Given the description of an element on the screen output the (x, y) to click on. 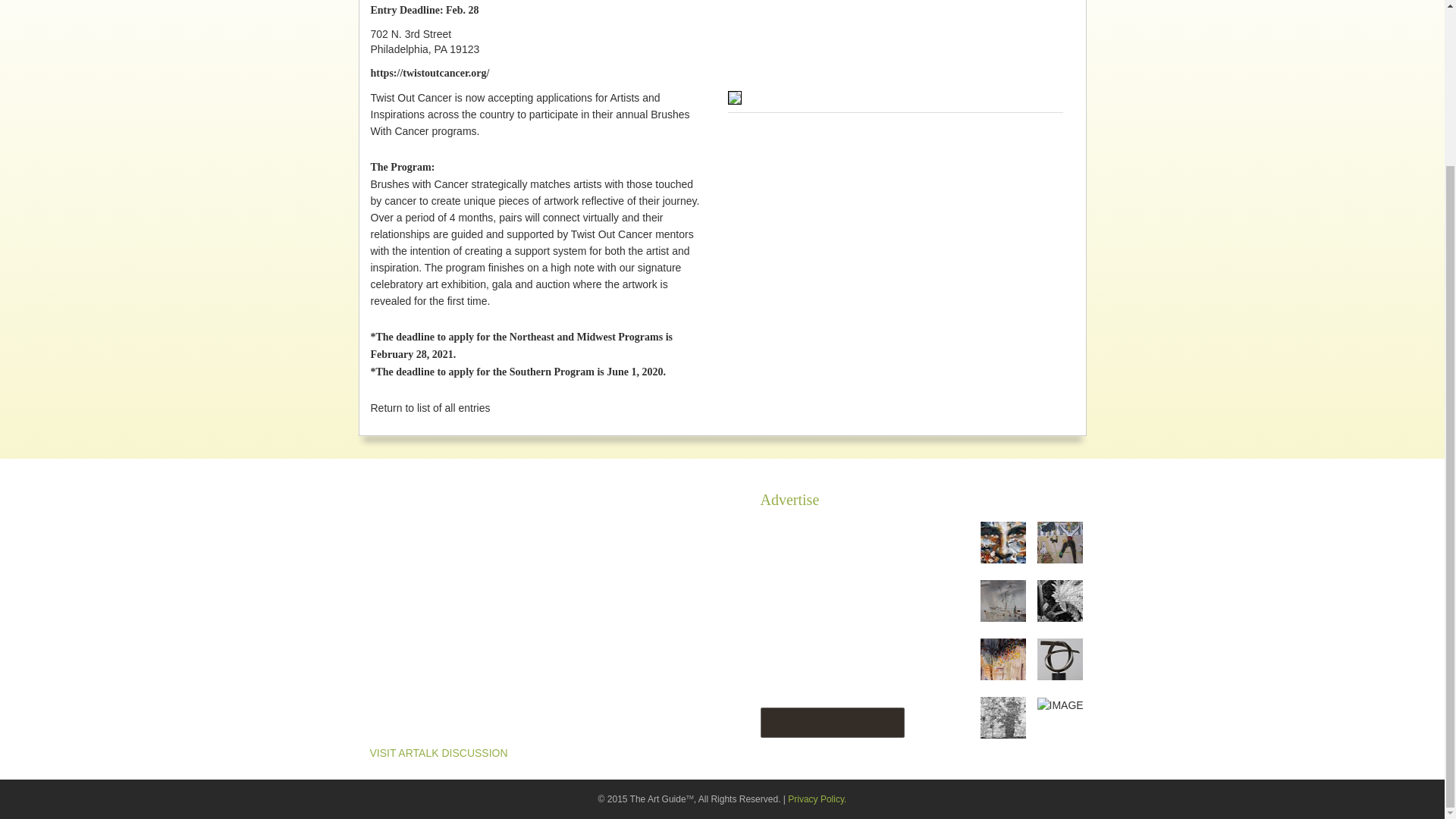
FEATURE ARTIST (804, 553)
Return to list of all entries (429, 408)
A BRUSH WITH NATURE, SKETCHBOOK JOURNALING (442, 536)
VISIT ARTALK DISCUSSION (438, 752)
PACKAGES (788, 651)
BANNER ADS (794, 530)
FEATURE GALLERY (810, 578)
ABSTRACT IDEAS THROUGH CONCRETE IMAGES (443, 677)
2024 PLEINAIR SALON ART COMPETITION (437, 635)
HOMEPAGE IMAGES (812, 603)
